Given the description of an element on the screen output the (x, y) to click on. 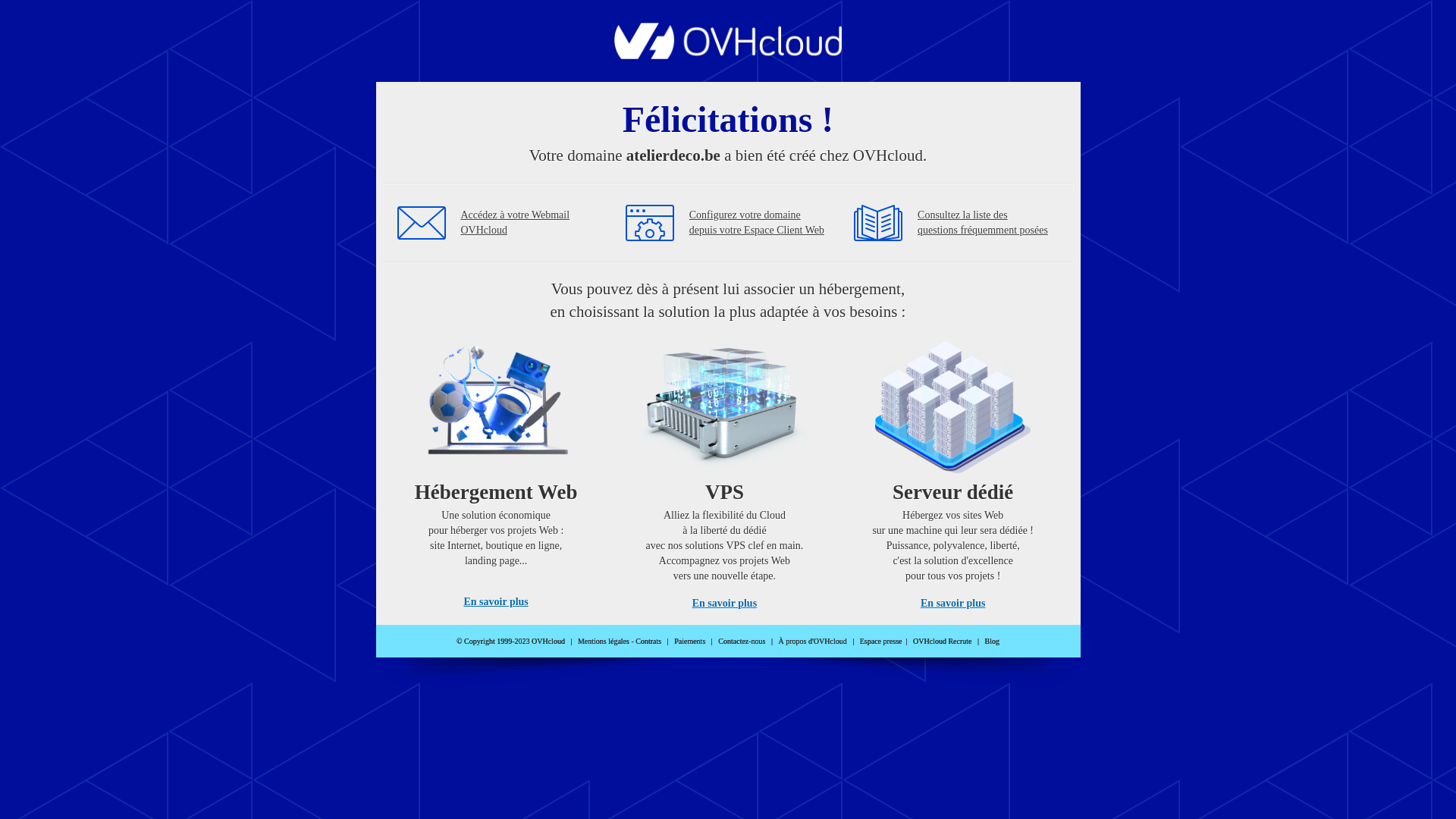
Espace presse Element type: text (880, 641)
Contactez-nous Element type: text (741, 641)
En savoir plus Element type: text (952, 602)
Blog Element type: text (992, 641)
Paiements Element type: text (689, 641)
En savoir plus Element type: text (724, 602)
OVHcloud Recrute Element type: text (942, 641)
VPS Element type: hover (724, 469)
Configurez votre domaine
depuis votre Espace Client Web Element type: text (756, 222)
OVHcloud Element type: hover (727, 54)
En savoir plus Element type: text (495, 601)
